Given the description of an element on the screen output the (x, y) to click on. 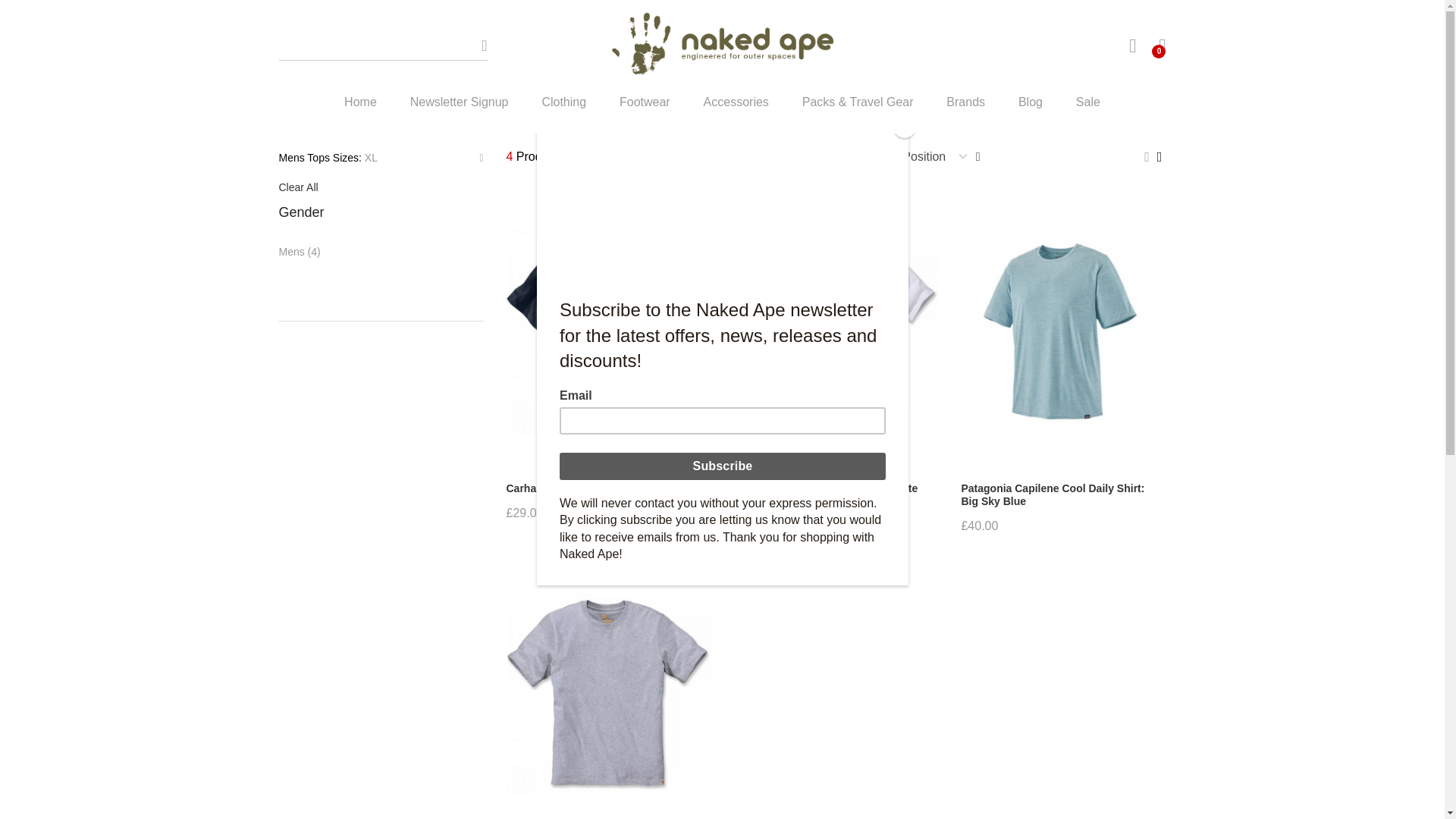
Naked Ape for Patagonia, Vibram Five Fingers (720, 45)
Go to Home Page (662, 97)
